Given the description of an element on the screen output the (x, y) to click on. 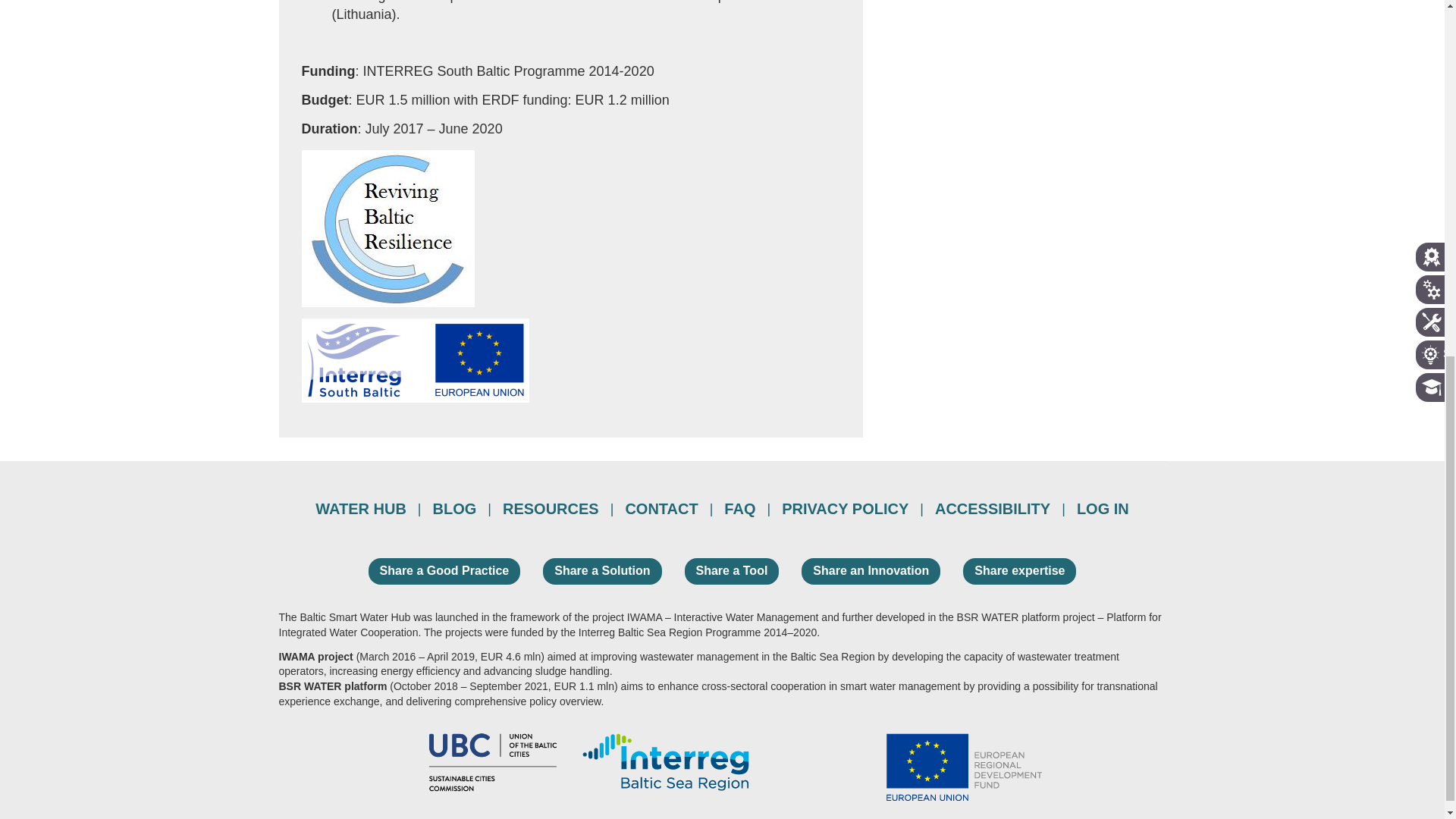
RESOURCES (551, 508)
Interreg Baltic Sea Region (664, 761)
Share expertise (1018, 570)
EU: European regional development fund (964, 767)
BLOG (454, 508)
LOG IN (1102, 508)
PRIVACY POLICY (845, 508)
FAQ (740, 508)
Share an Innovation (871, 570)
Share a Tool (731, 570)
